Given the description of an element on the screen output the (x, y) to click on. 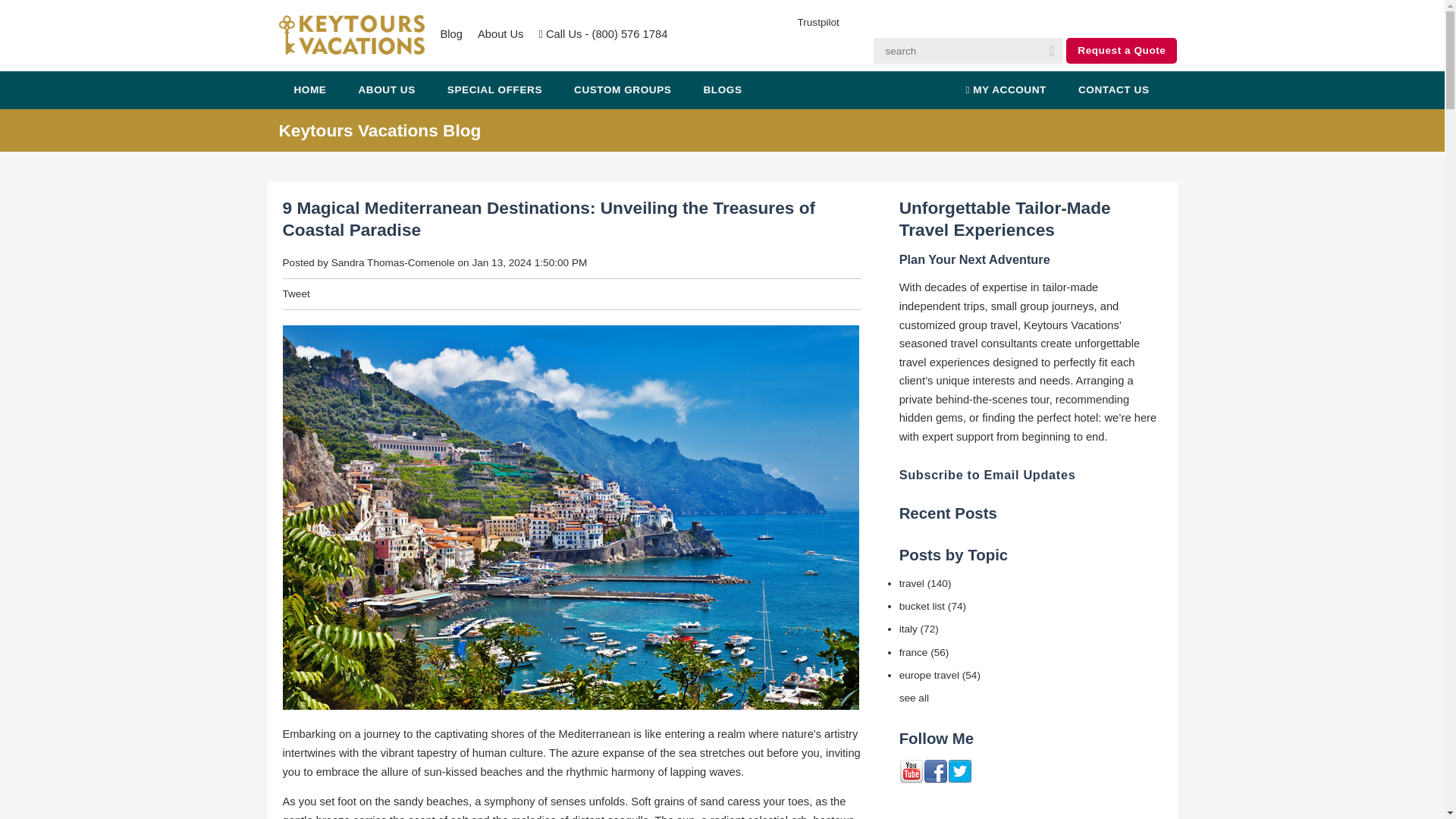
Keytours Vacations - home (352, 34)
Follow us on YouTube (911, 771)
Follow us on Twitter (959, 771)
Follow us on Facebook (935, 771)
Weekdays 9am - 6pm EST (602, 33)
